Given the description of an element on the screen output the (x, y) to click on. 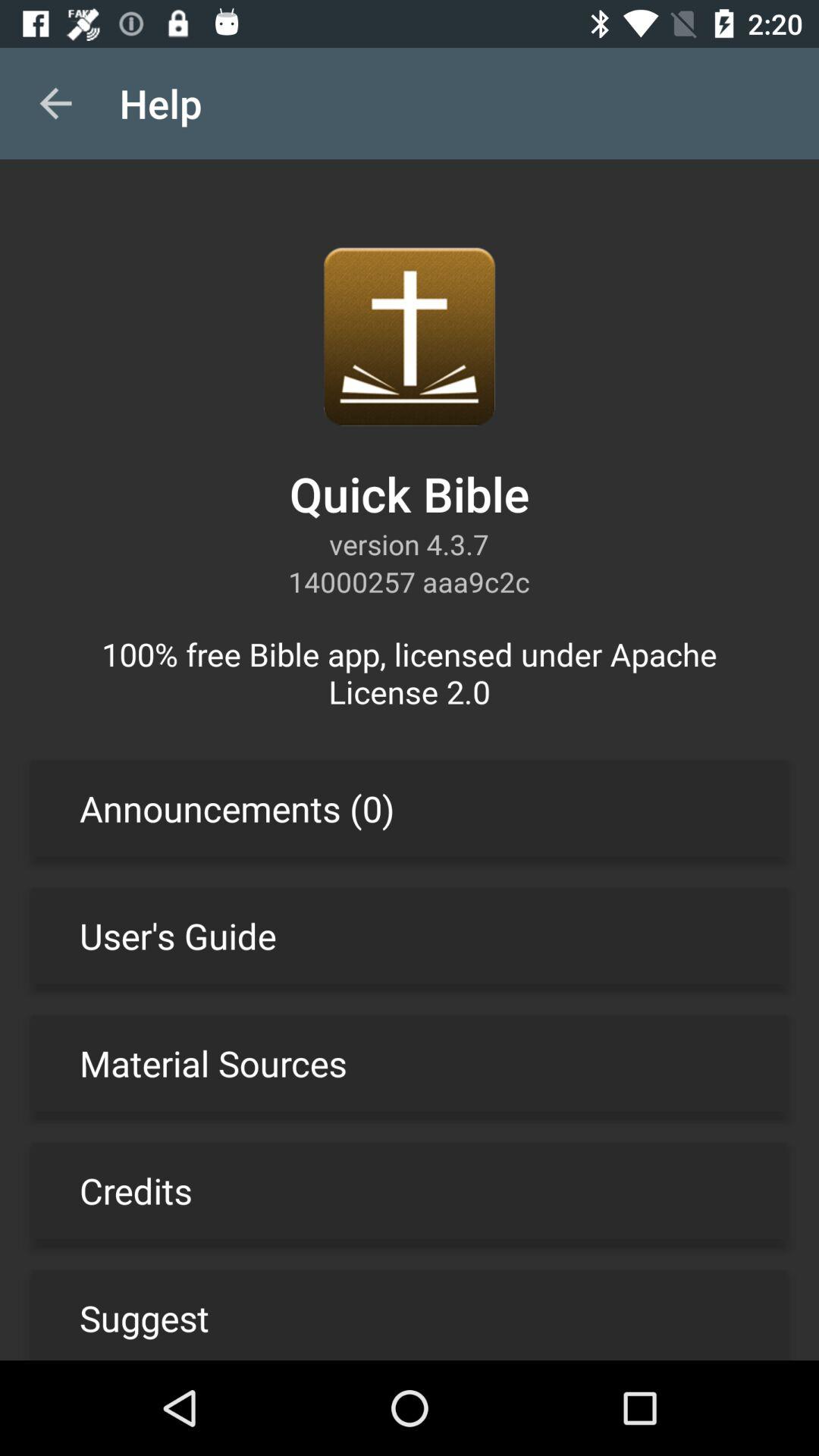
press the icon above the announcements (0) item (409, 672)
